Given the description of an element on the screen output the (x, y) to click on. 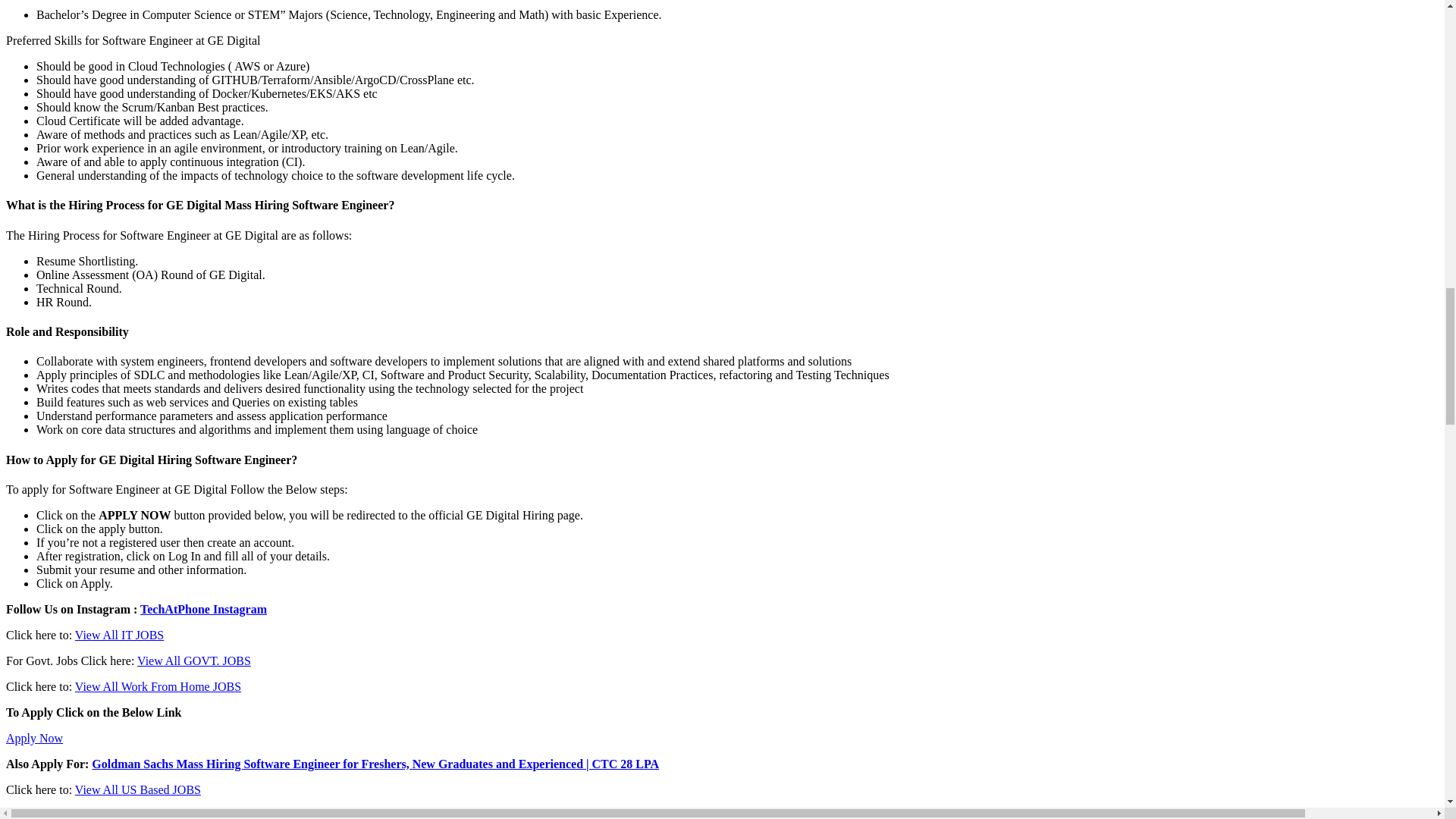
TechAtPhone Instagram (202, 608)
Apply Now (33, 738)
View All IT JOBS (119, 634)
View All GOVT. JOBS (193, 660)
View All US Based JOBS (137, 789)
View All Work From Home JOBS (158, 686)
